Given the description of an element on the screen output the (x, y) to click on. 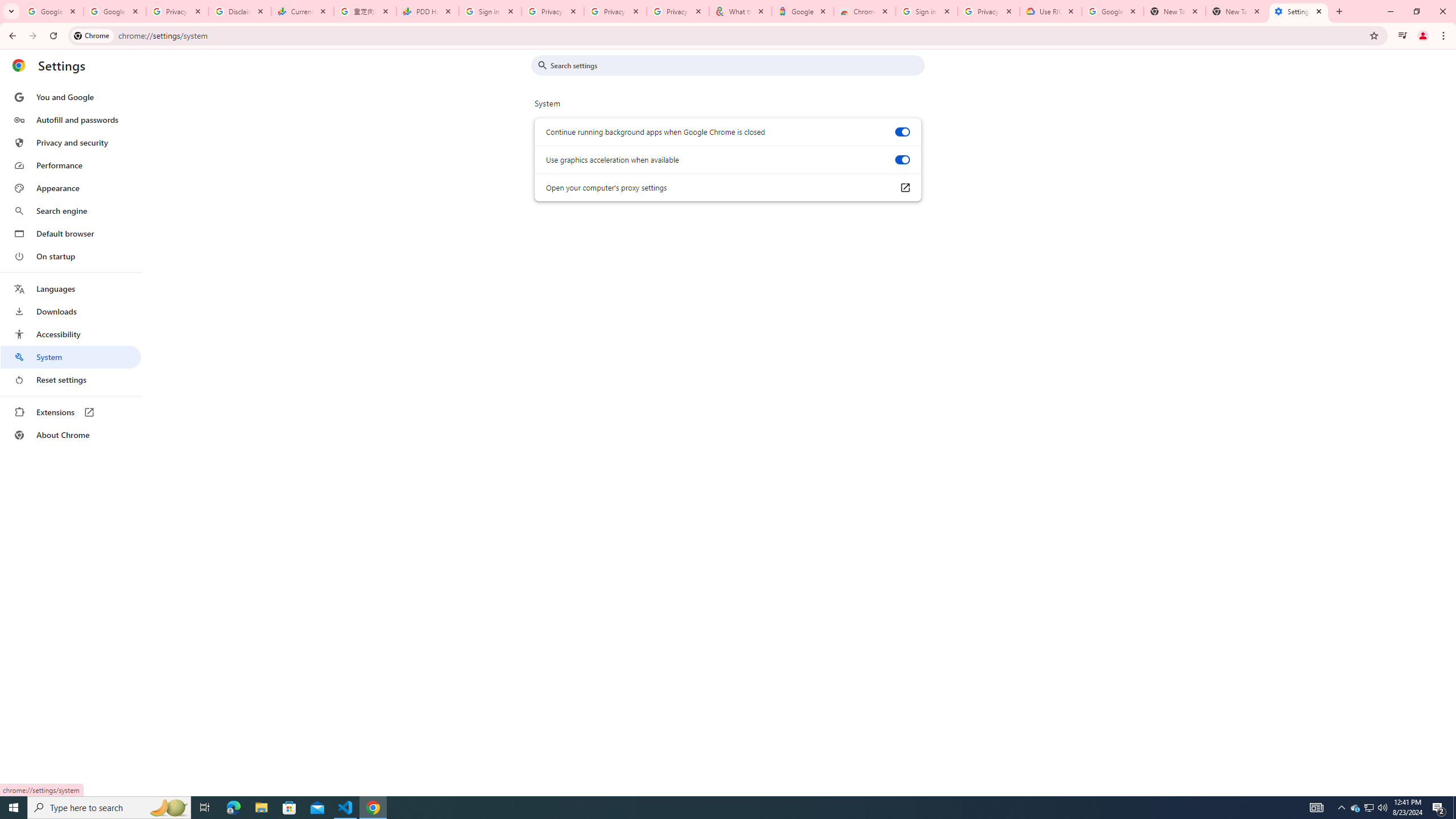
Search engine (70, 210)
Appearance (70, 187)
Privacy Checkup (678, 11)
Search settings (735, 65)
Use graphics acceleration when available (901, 159)
Privacy and security (70, 142)
Performance (70, 164)
On startup (70, 255)
